Given the description of an element on the screen output the (x, y) to click on. 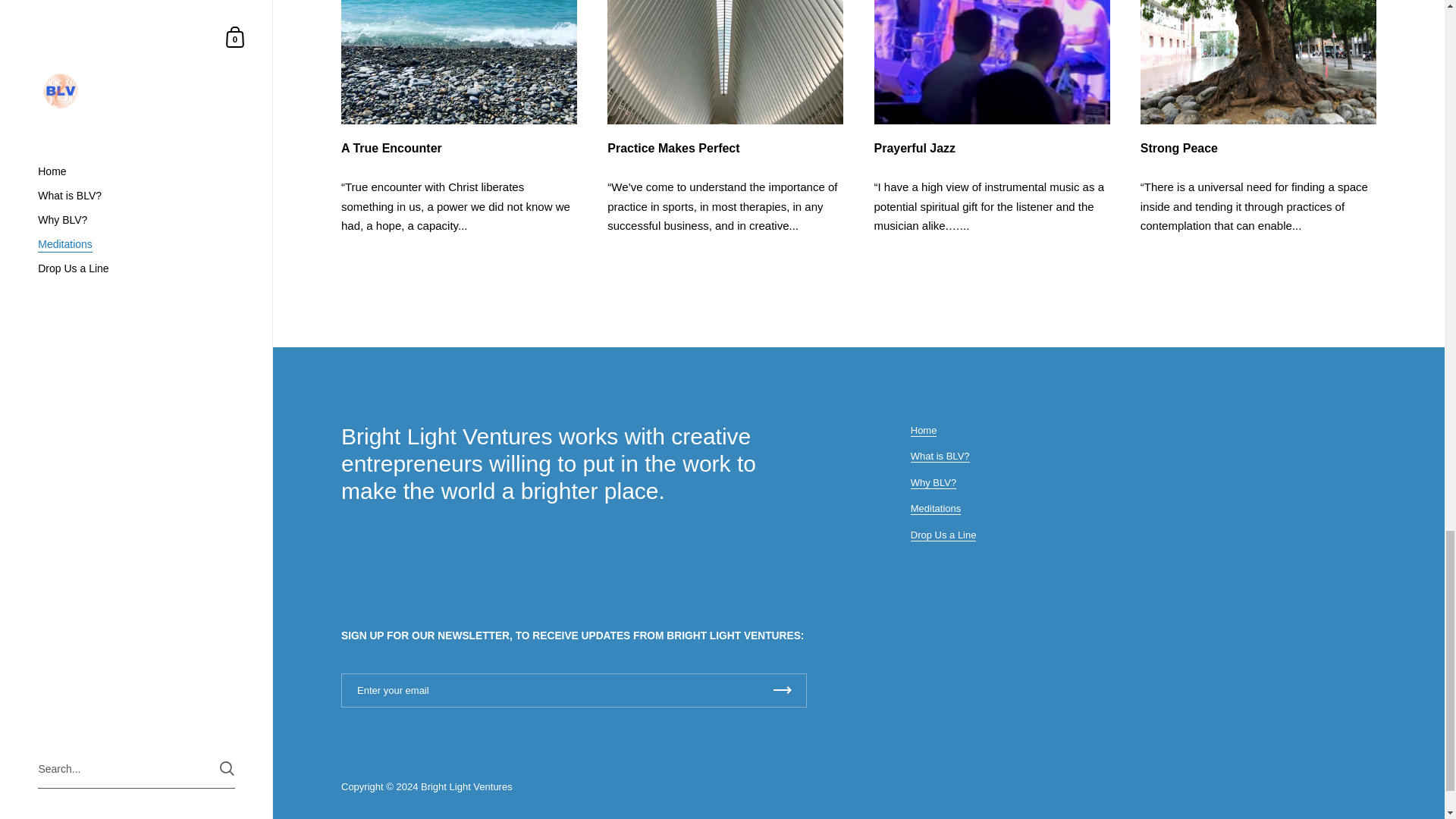
Meditations (935, 508)
Strong Peace (1257, 148)
Bright Light Ventures (466, 786)
Why BLV? (933, 482)
Drop Us a Line (943, 535)
Strong Peace (1257, 62)
Practice Makes Perfect (725, 148)
Home (924, 430)
Prayerful Jazz (991, 148)
A True Encounter (458, 62)
What is BLV? (940, 456)
Prayerful Jazz (991, 62)
A True Encounter (458, 148)
Practice Makes Perfect (725, 62)
Practice Makes Perfect (725, 148)
